Given the description of an element on the screen output the (x, y) to click on. 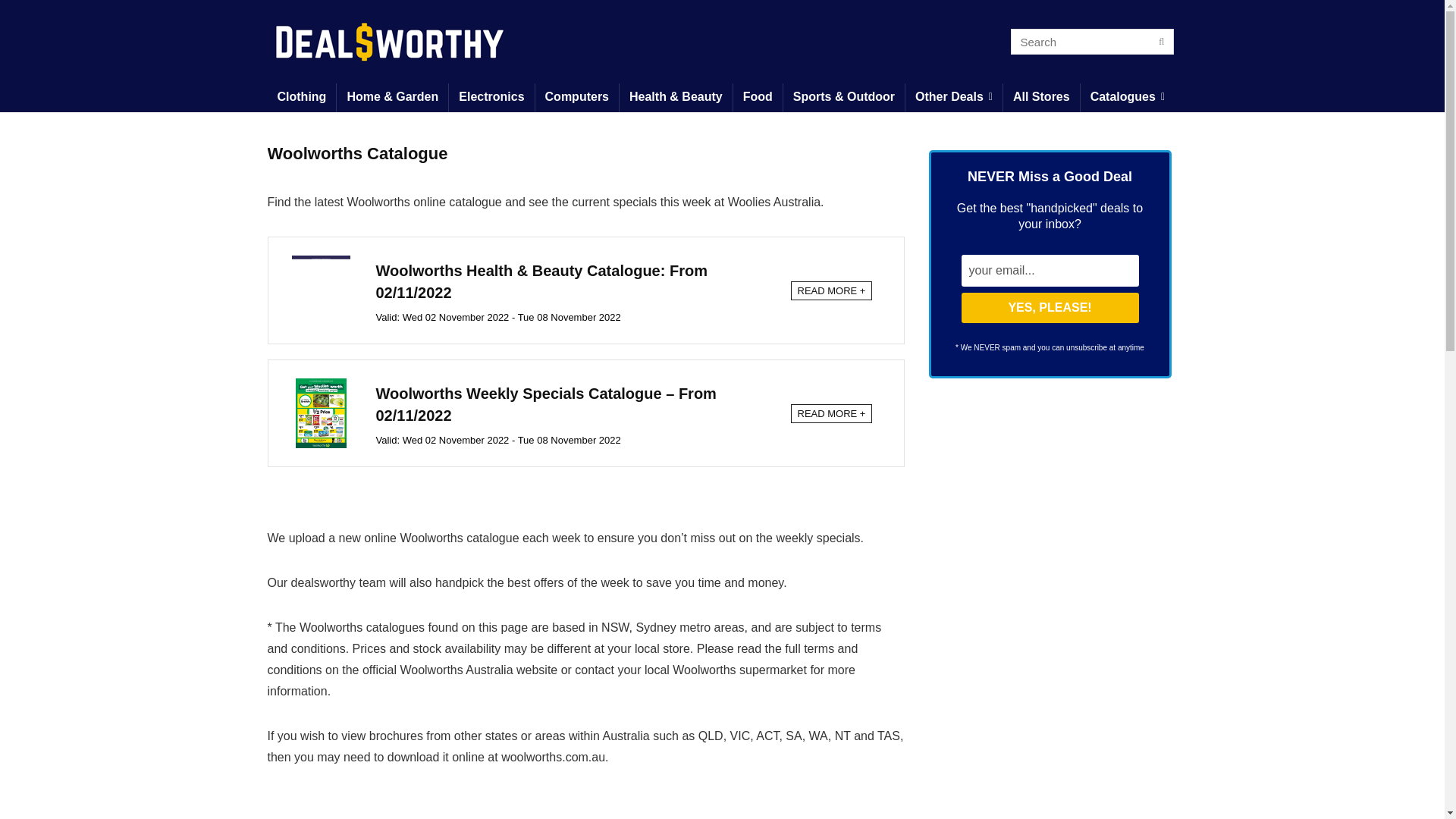
All Stores (1041, 97)
Computers (576, 97)
YES, PLEASE! (1049, 307)
Take Action Now! (119, 15)
Other Deals (954, 97)
YES, PLEASE! (1049, 307)
Catalogues (1127, 97)
Electronics (491, 97)
Food (758, 97)
Clothing (301, 97)
